Given the description of an element on the screen output the (x, y) to click on. 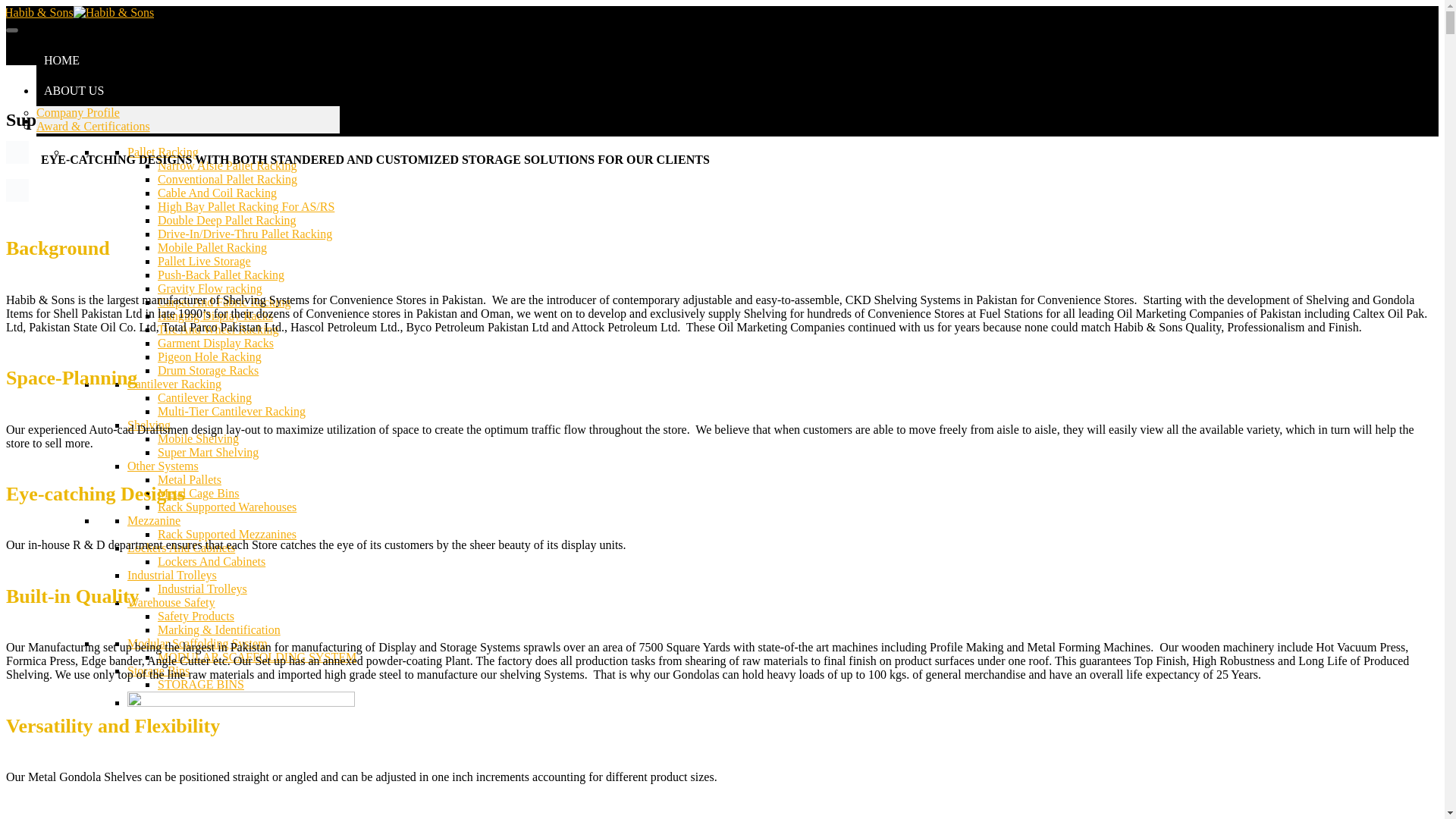
Pallet Racking (163, 151)
Mezzanine (154, 520)
Hanging Display Racks (215, 315)
Metal Pallets (189, 479)
Other Systems (163, 465)
Cantilever Racking (204, 397)
Mobile Shelving (197, 438)
Cable And Coil Racking (216, 192)
Garment Display Racks (215, 342)
Rack Supported Warehouses (227, 506)
Carpet And Fabric Racking (224, 301)
Multi-Tier Cantilever Racking (231, 410)
Push-Back Pallet Racking (220, 274)
Gravity Flow racking (209, 287)
Conventional Pallet Racking (227, 178)
